Given the description of an element on the screen output the (x, y) to click on. 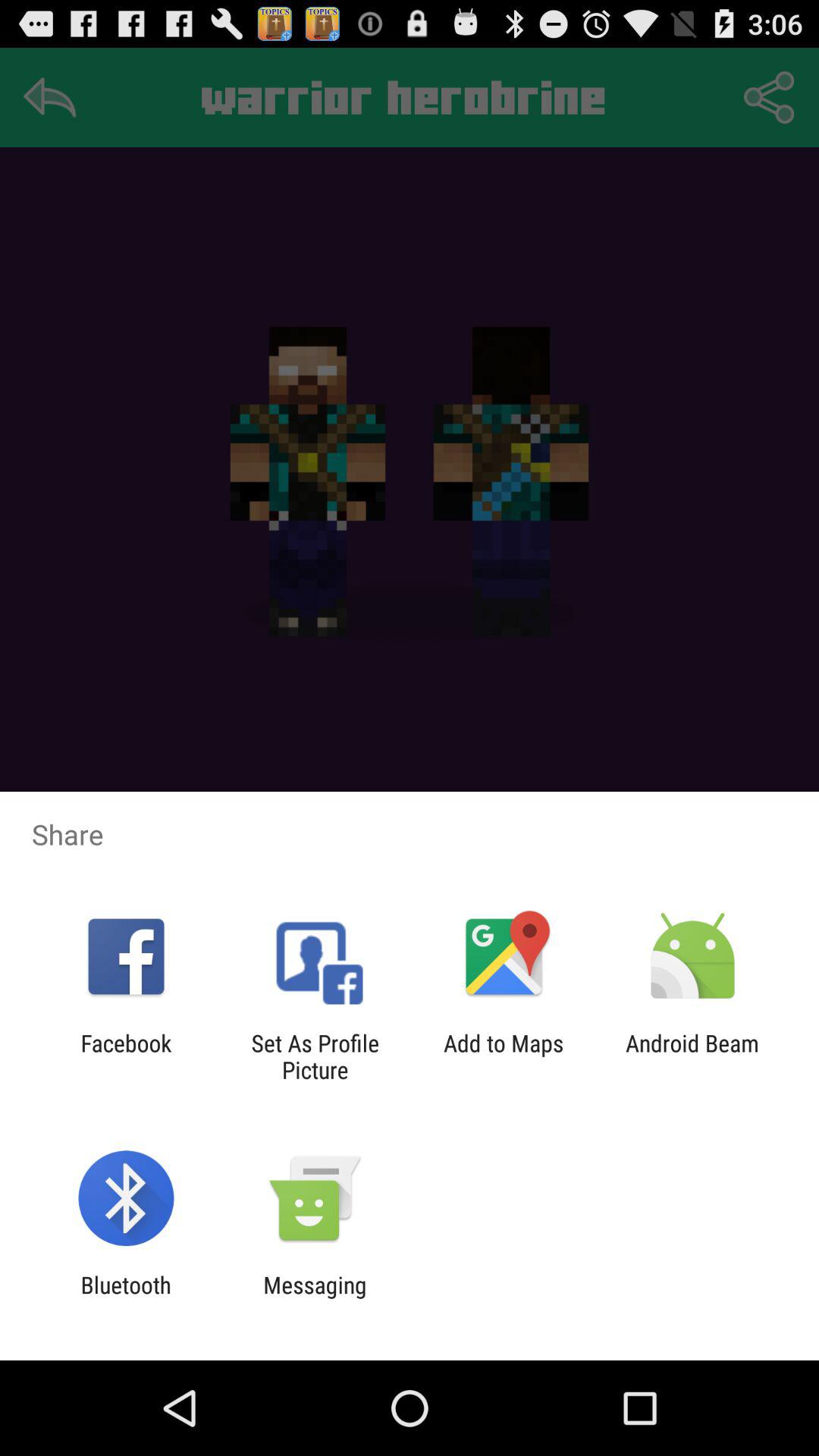
open item next to android beam icon (503, 1056)
